Given the description of an element on the screen output the (x, y) to click on. 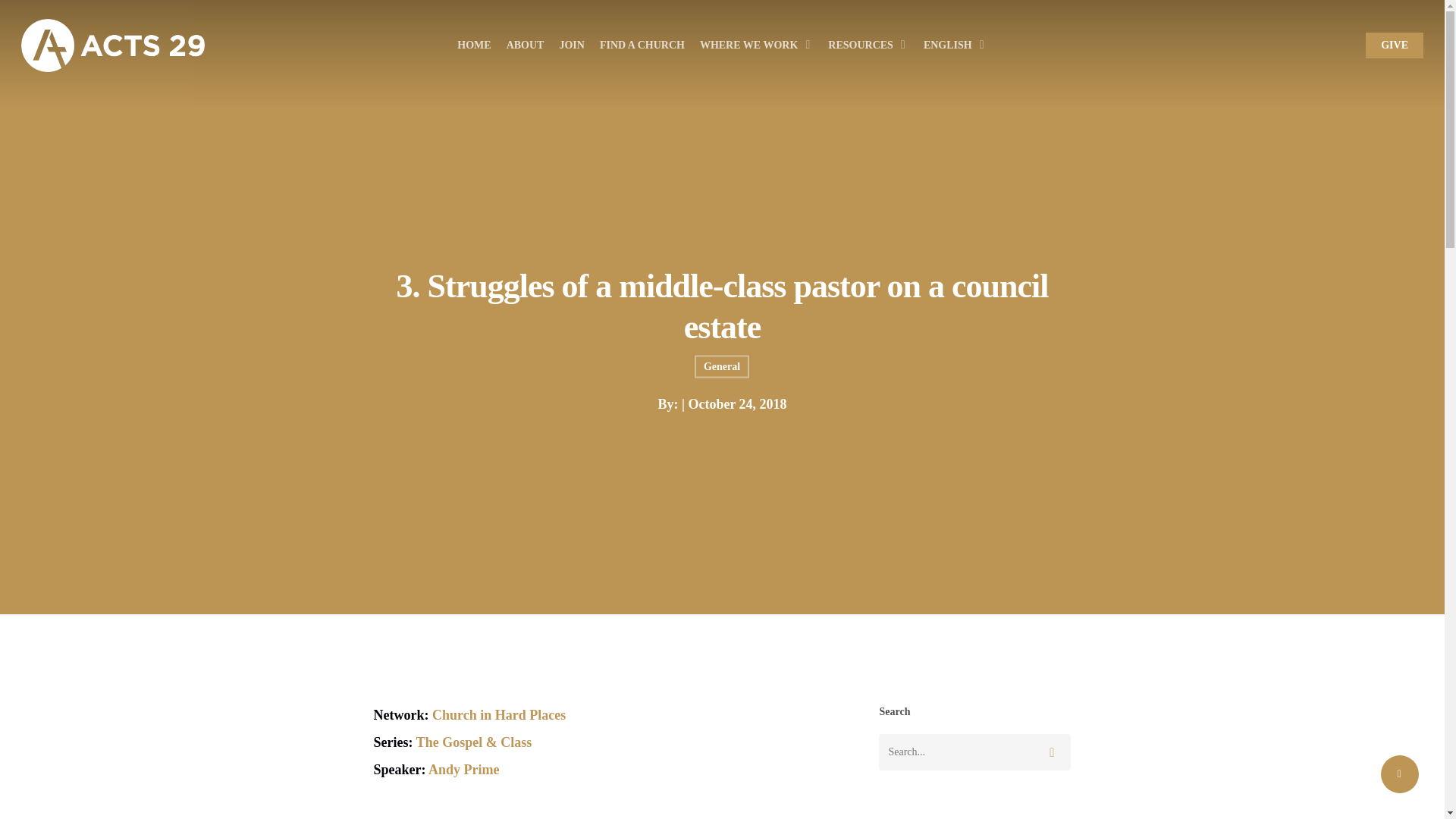
Andy Prime (463, 769)
ENGLISH (955, 44)
WHERE WE WORK (756, 44)
Church in Hard Places (499, 714)
English (955, 44)
FIND A CHURCH (641, 44)
Search for: (974, 751)
RESOURCES (868, 44)
GIVE (1394, 44)
General (721, 365)
